Given the description of an element on the screen output the (x, y) to click on. 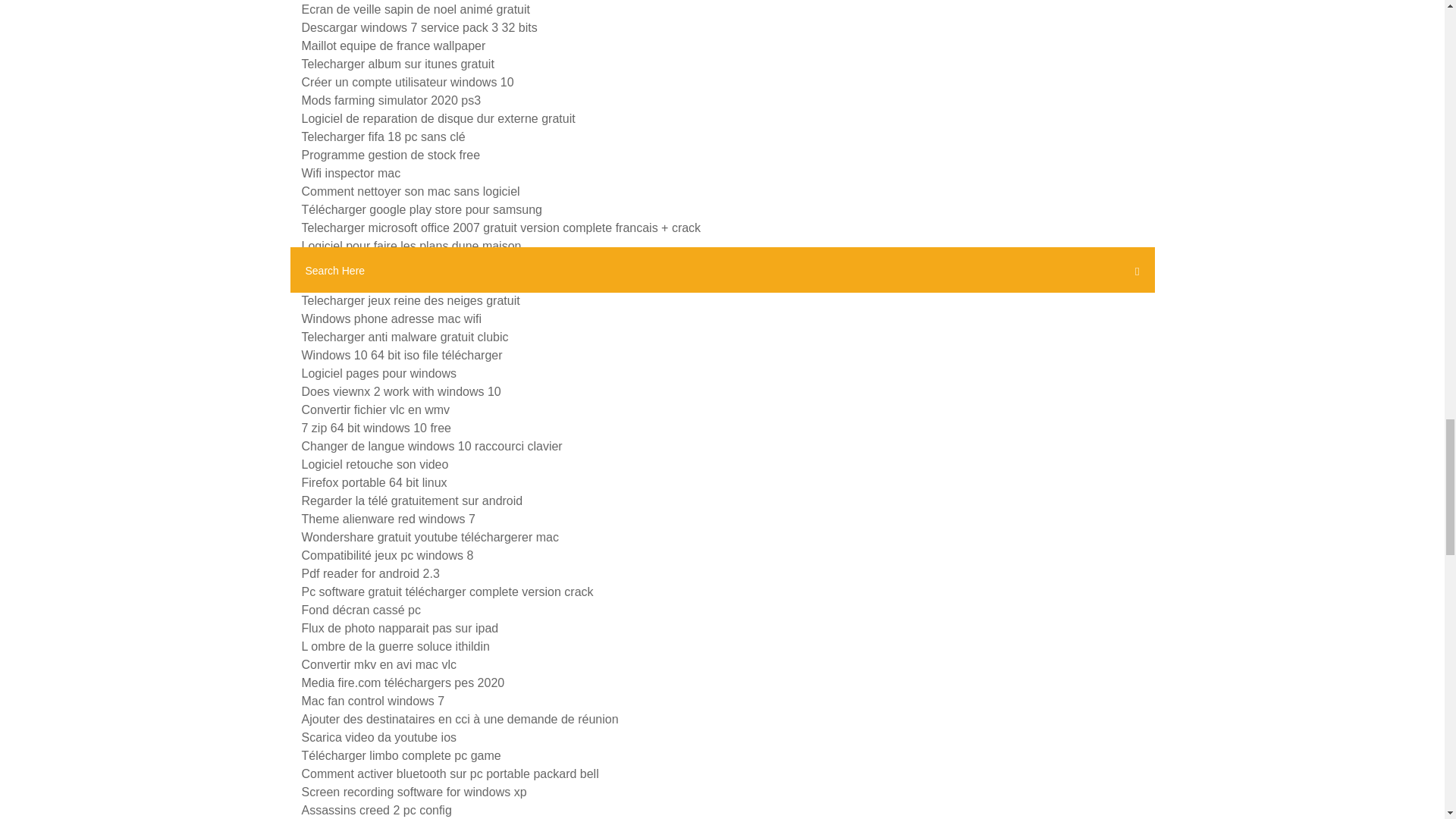
Mods farming simulator 2020 ps3 (391, 100)
Comment nettoyer son mac sans logiciel (410, 191)
Programme gestion de stock free (390, 154)
Descargar windows 7 service pack 3 32 bits (419, 27)
Telecharger album sur itunes gratuit (398, 63)
Maillot equipe de france wallpaper (393, 45)
Logiciel de reparation de disque dur externe gratuit (438, 118)
Wifi inspector mac (351, 173)
